Given the description of an element on the screen output the (x, y) to click on. 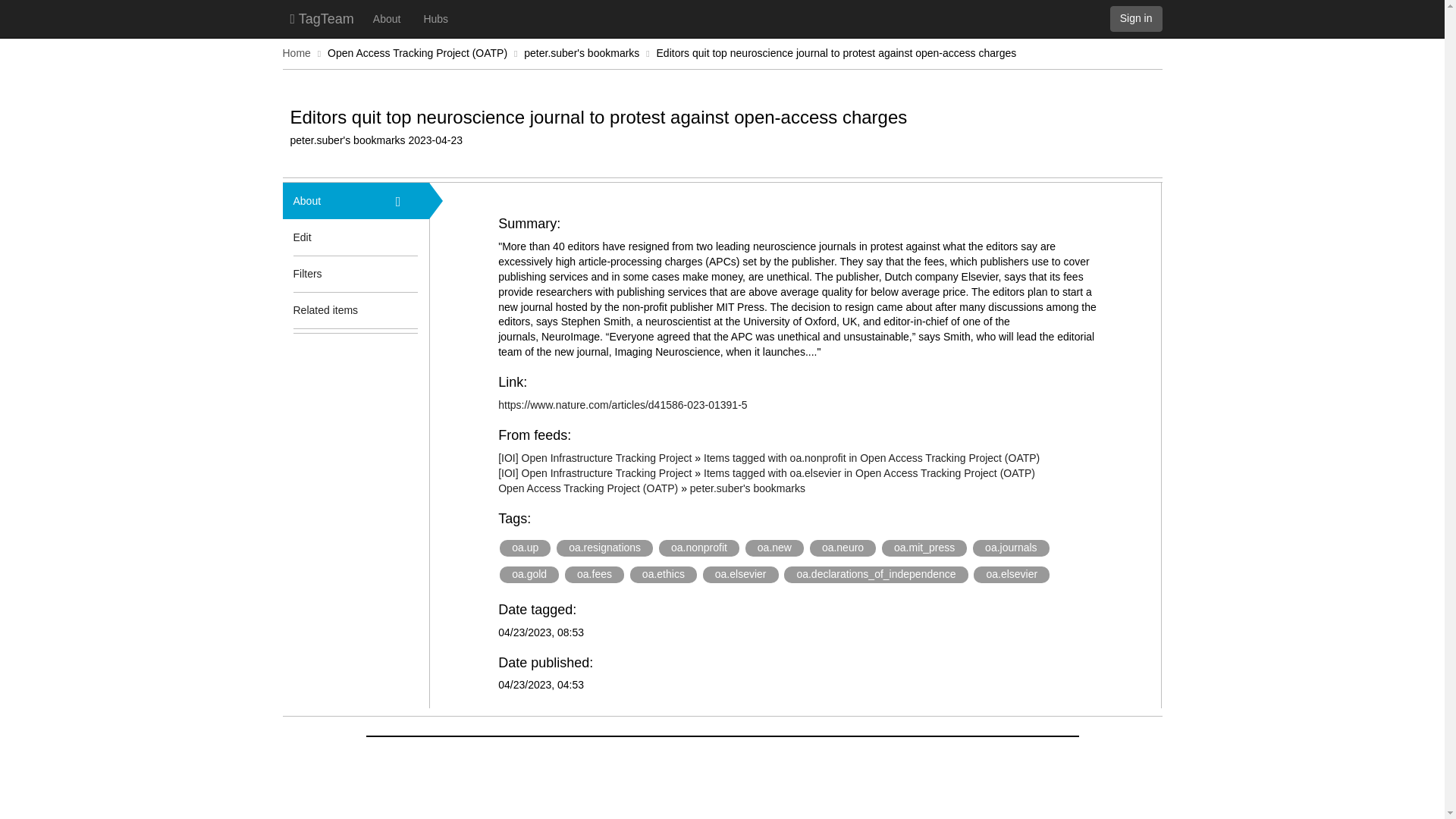
oa.nonprofit (699, 547)
oa.journals (1010, 547)
TagTeam (321, 18)
About (386, 18)
Edit (301, 237)
Related items (333, 309)
peter.suber's bookmarks (581, 52)
peter.suber's bookmarks (747, 488)
Home (296, 52)
